Given the description of an element on the screen output the (x, y) to click on. 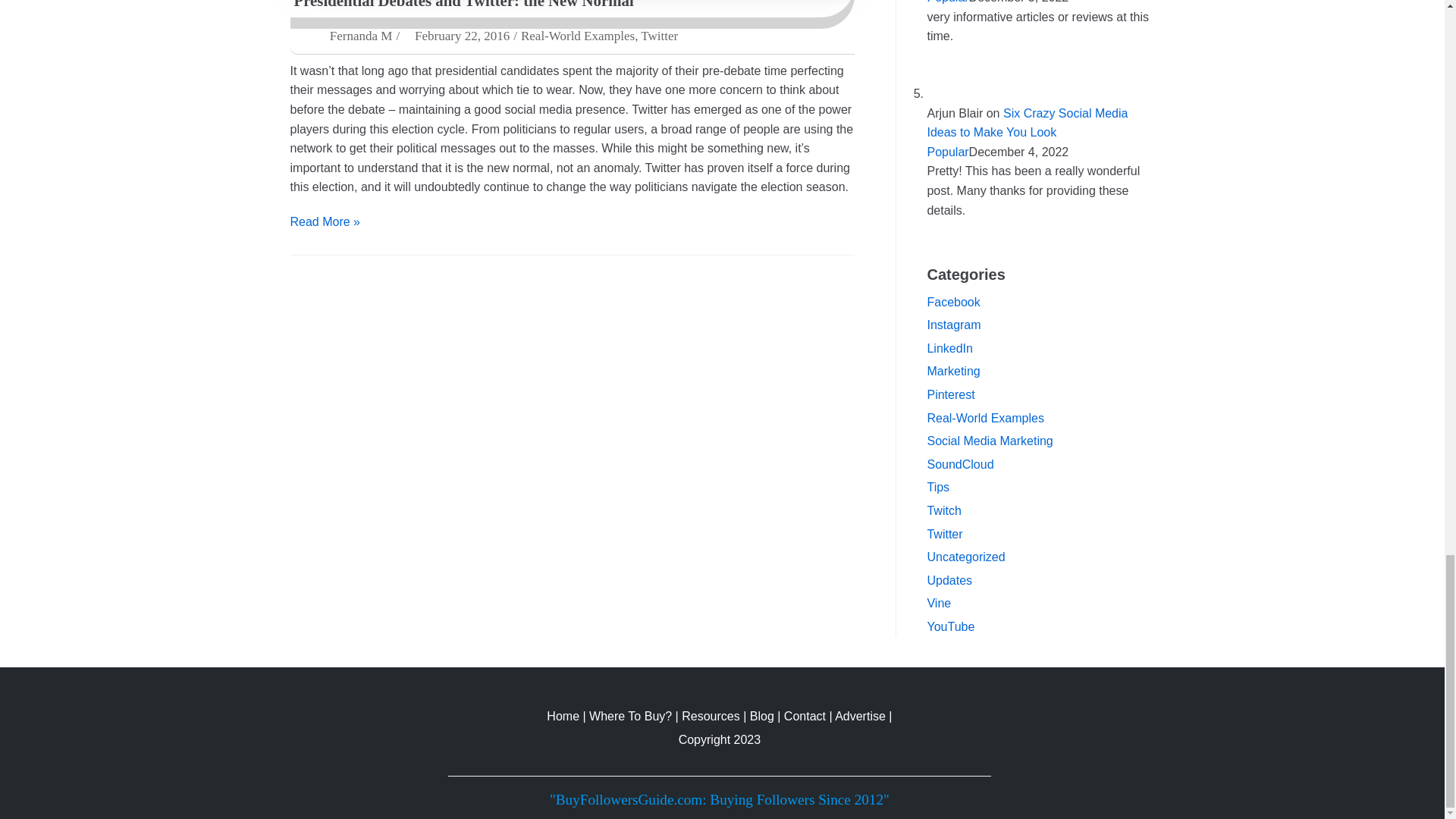
LinkedIn (949, 348)
Real-World Examples (577, 35)
Six Crazy Social Media Ideas to Make You Look Popular (1021, 2)
Facebook (952, 301)
Fernanda M (361, 35)
SoundCloud (959, 463)
Real-World Examples (984, 418)
Twitter (659, 35)
Pinterest (950, 394)
Six Crazy Social Media Ideas to Make You Look Popular (1026, 132)
